Given the description of an element on the screen output the (x, y) to click on. 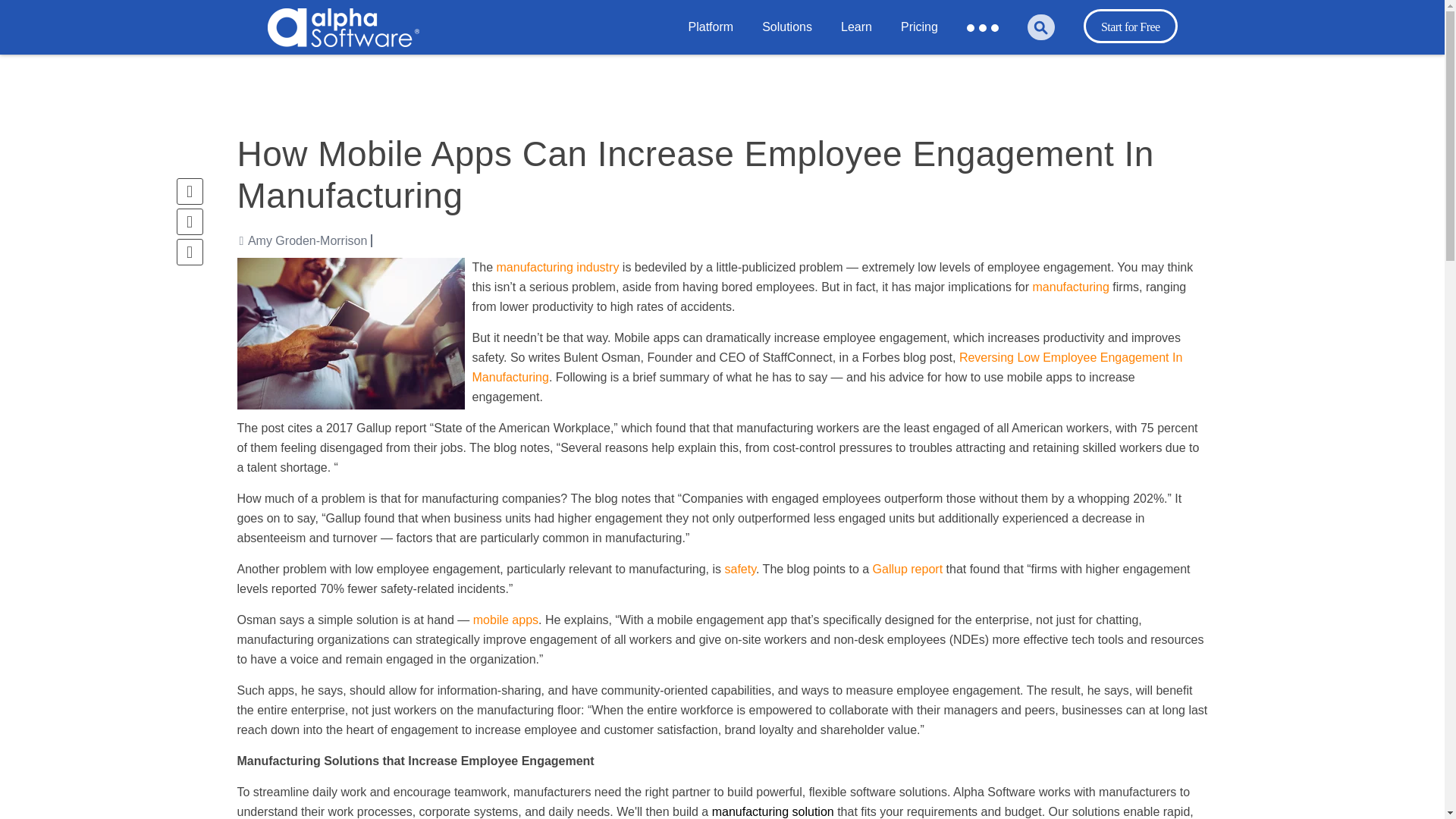
Case Studies (911, 69)
Industry Solutions (525, 69)
Manufacturing (525, 60)
START NOW (386, 75)
About (483, 60)
Solutions (786, 27)
Documentation (544, 66)
START NOW (782, 75)
Developer's Day (949, 67)
Professional Services (968, 67)
Learning Center (544, 65)
SAAS Applications (968, 80)
Alpha News (694, 69)
Video Library (544, 67)
Customer Reviews (794, 69)
